Given the description of an element on the screen output the (x, y) to click on. 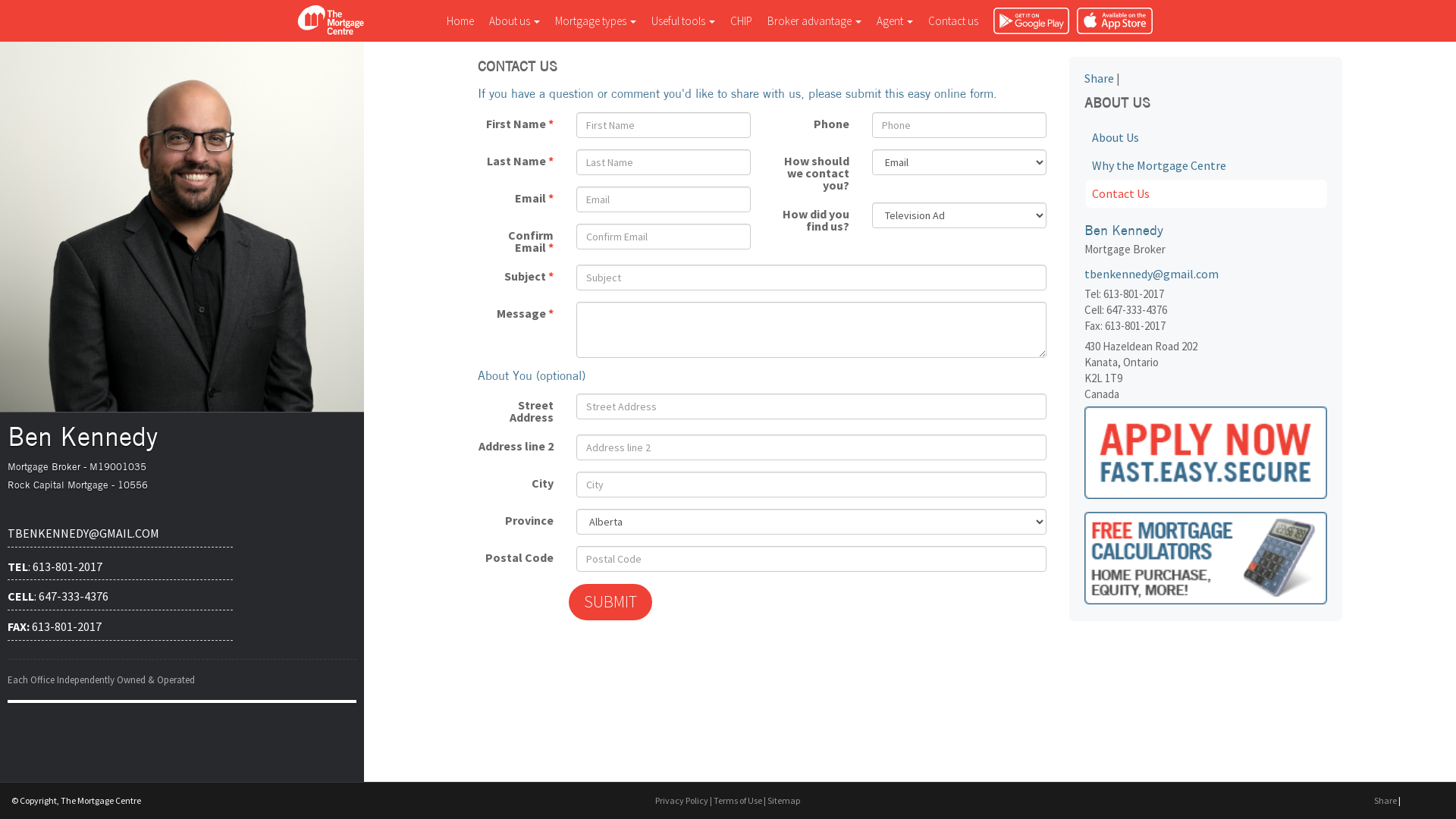
FAX: 613-801-2017 Element type: text (119, 626)
Share Element type: text (1385, 800)
TBENKENNEDY@GMAIL.COM Element type: text (119, 533)
CELL: 647-333-4376 Element type: text (119, 596)
Mortgage types Element type: text (595, 20)
Share Element type: text (1098, 77)
Sitemap Element type: text (783, 800)
Useful tools Element type: text (682, 20)
SUBMIT Element type: text (610, 601)
Privacy Policy Element type: text (681, 800)
Broker advantage Element type: text (814, 20)
Contact us Element type: text (952, 20)
About Us Element type: text (1206, 137)
tbenkennedy@gmail.com Element type: text (1202, 273)
CHIP Element type: text (740, 20)
TEL: 613-801-2017 Element type: text (119, 566)
Agent Element type: text (894, 20)
Each Office Independently Owned & Operated Element type: text (181, 689)
Terms of Use Element type: text (737, 800)
About us Element type: text (514, 20)
Ben Kennedy Element type: hover (182, 225)
Contact Us Element type: text (1206, 193)
Why the Mortgage Centre Element type: text (1206, 165)
Home Element type: text (460, 20)
